Given the description of an element on the screen output the (x, y) to click on. 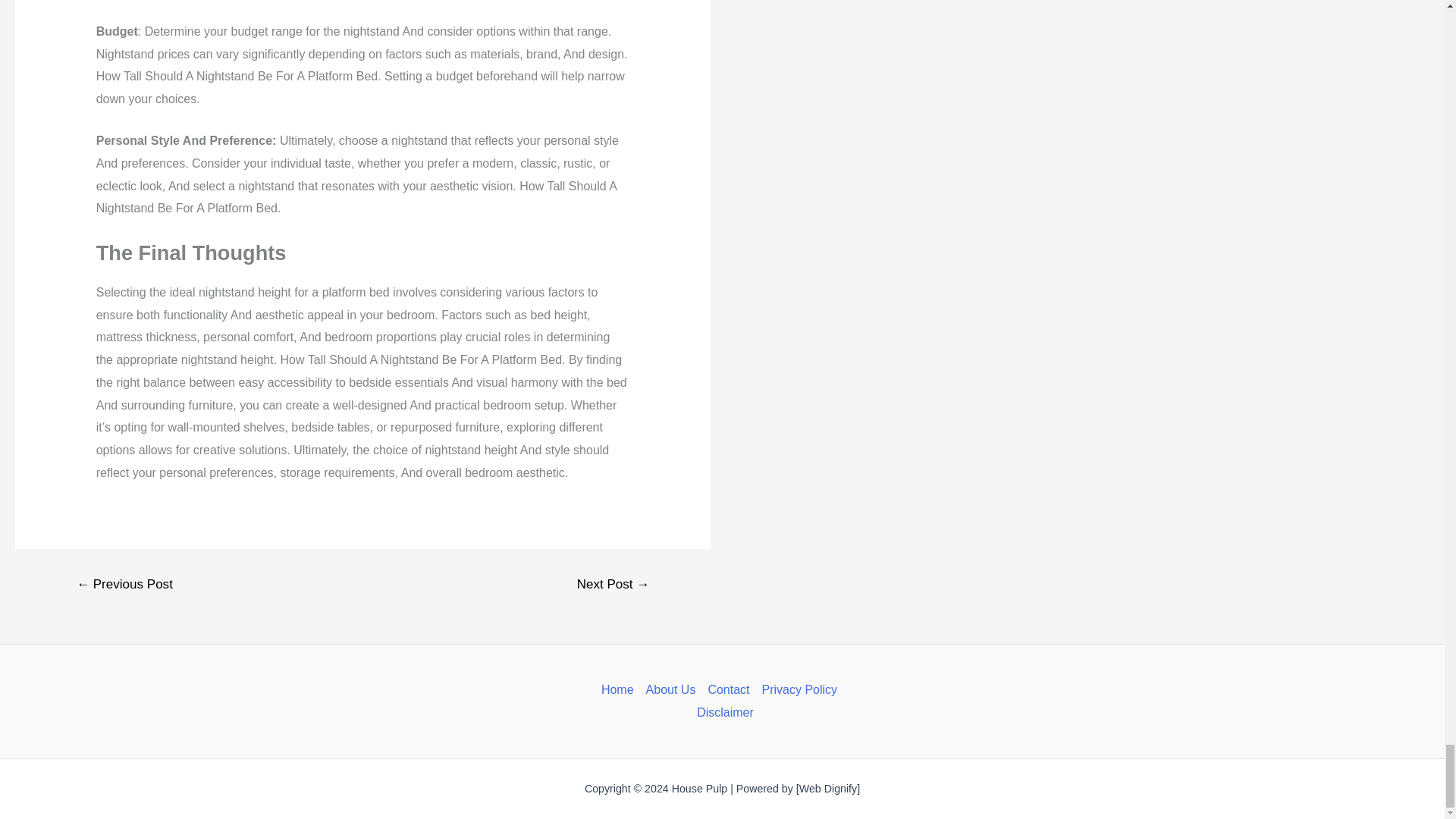
Disclaimer (722, 712)
Home (620, 689)
Contact (728, 689)
About Us (670, 689)
Privacy Policy (799, 689)
